Given the description of an element on the screen output the (x, y) to click on. 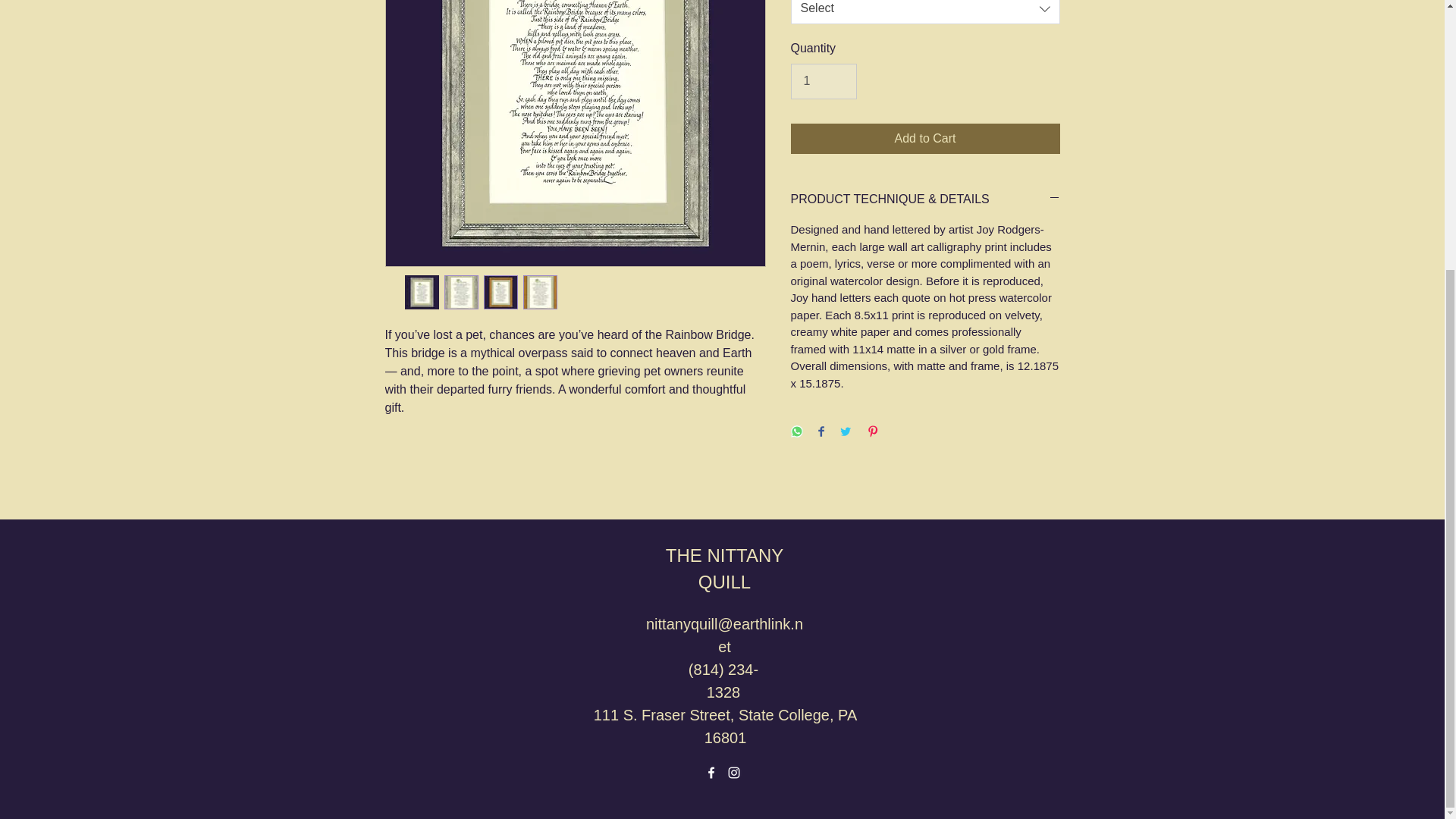
Select (924, 12)
1 (823, 80)
Add to Cart (924, 138)
THE NITTANY QUILL (724, 568)
